Given the description of an element on the screen output the (x, y) to click on. 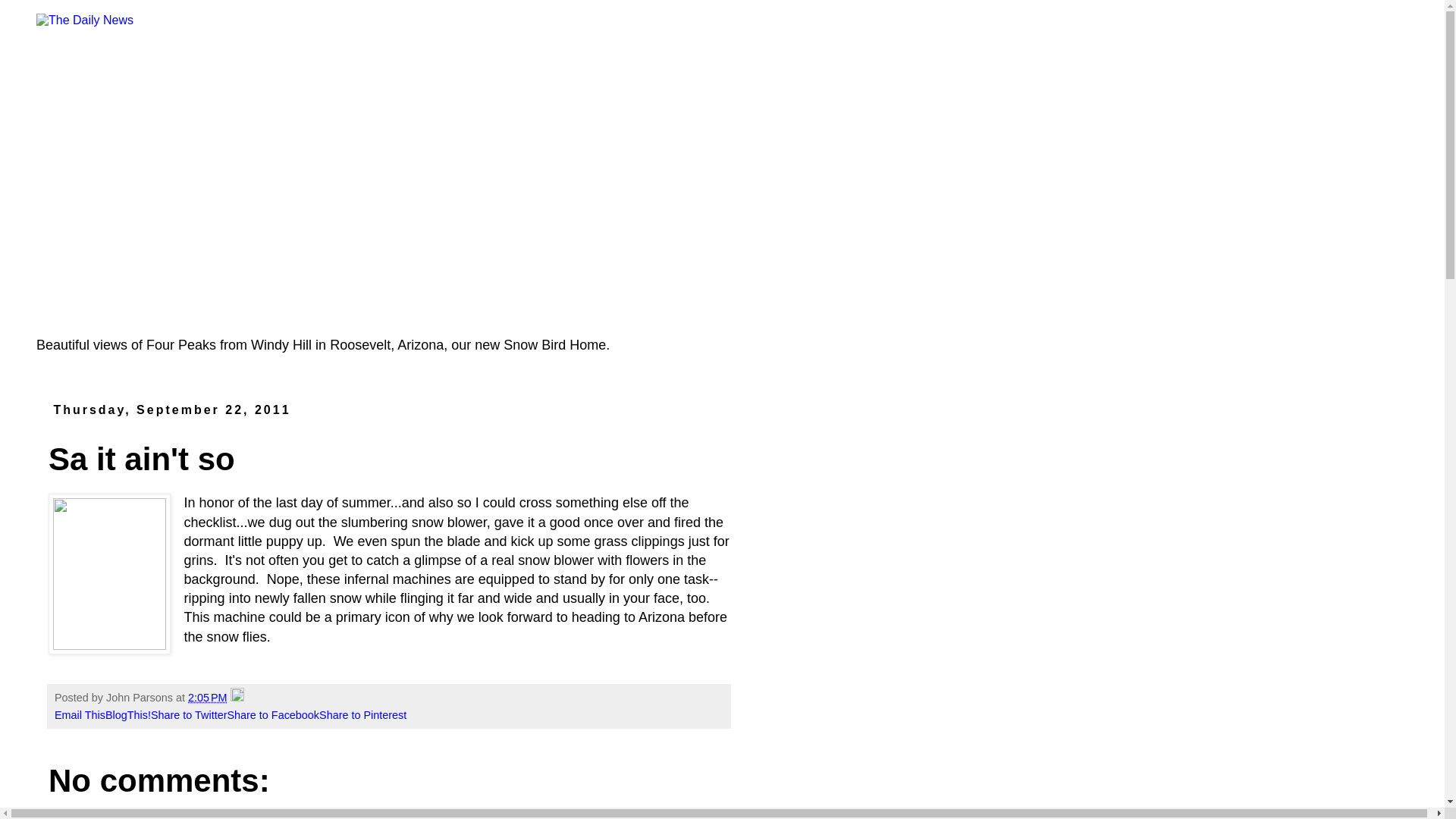
Post a Comment (93, 815)
Share to Facebook (272, 715)
Email This (79, 715)
Share to Facebook (272, 715)
Email This (79, 715)
Edit Post (237, 697)
permanent link (207, 697)
BlogThis! (127, 715)
BlogThis! (127, 715)
Share to Pinterest (362, 715)
Share to Twitter (189, 715)
Share to Pinterest (362, 715)
Share to Twitter (189, 715)
